Given the description of an element on the screen output the (x, y) to click on. 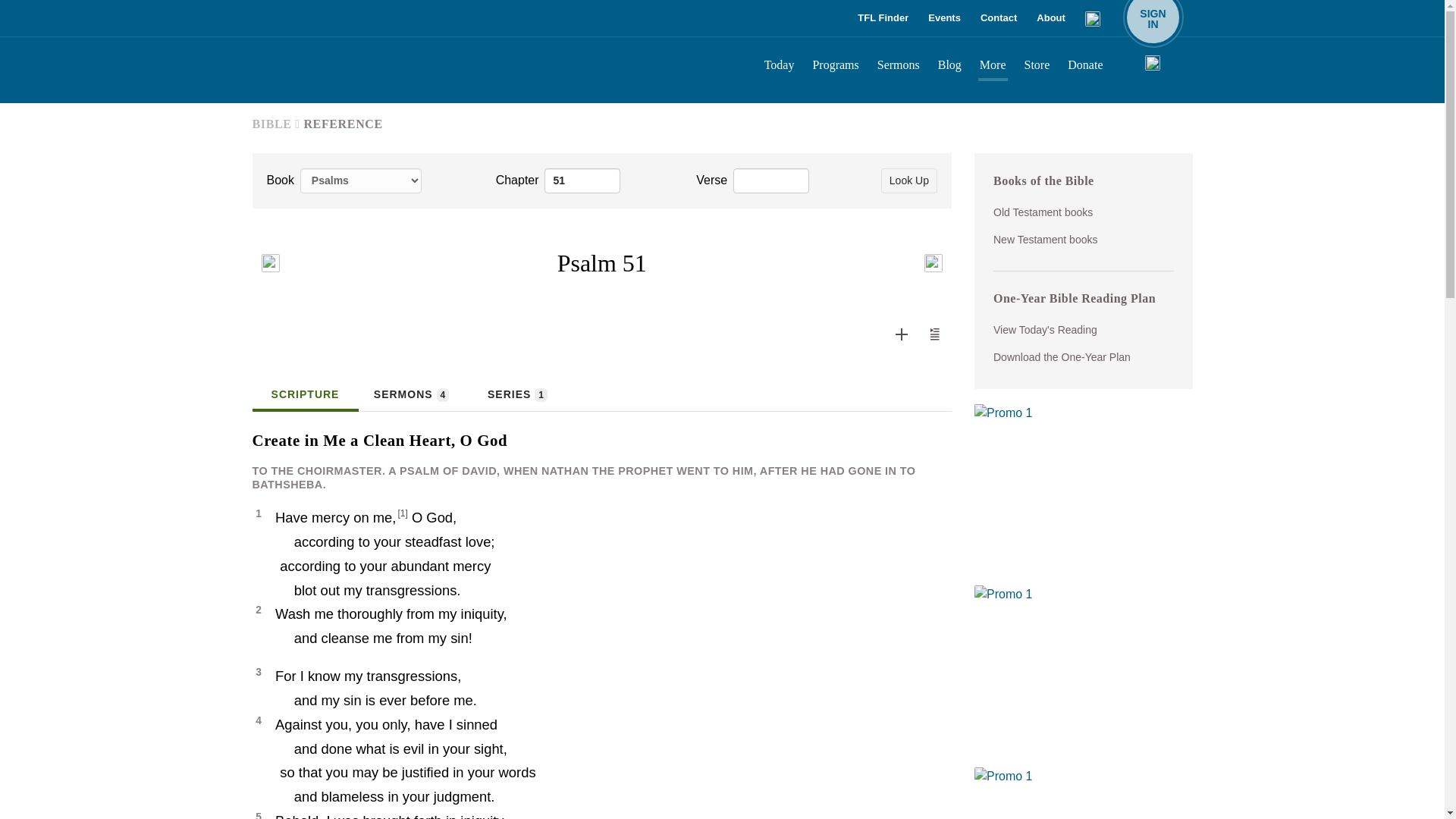
Events (943, 18)
51 (582, 180)
Today (779, 66)
TFL Finder (882, 18)
Listen Queue (935, 334)
Programs (835, 66)
About (1050, 18)
Add to My Library (901, 334)
Truth For Life (365, 68)
cart (1093, 18)
Add to My Library (901, 334)
Add to Listen Queue (1152, 18)
Contact (934, 334)
